Given the description of an element on the screen output the (x, y) to click on. 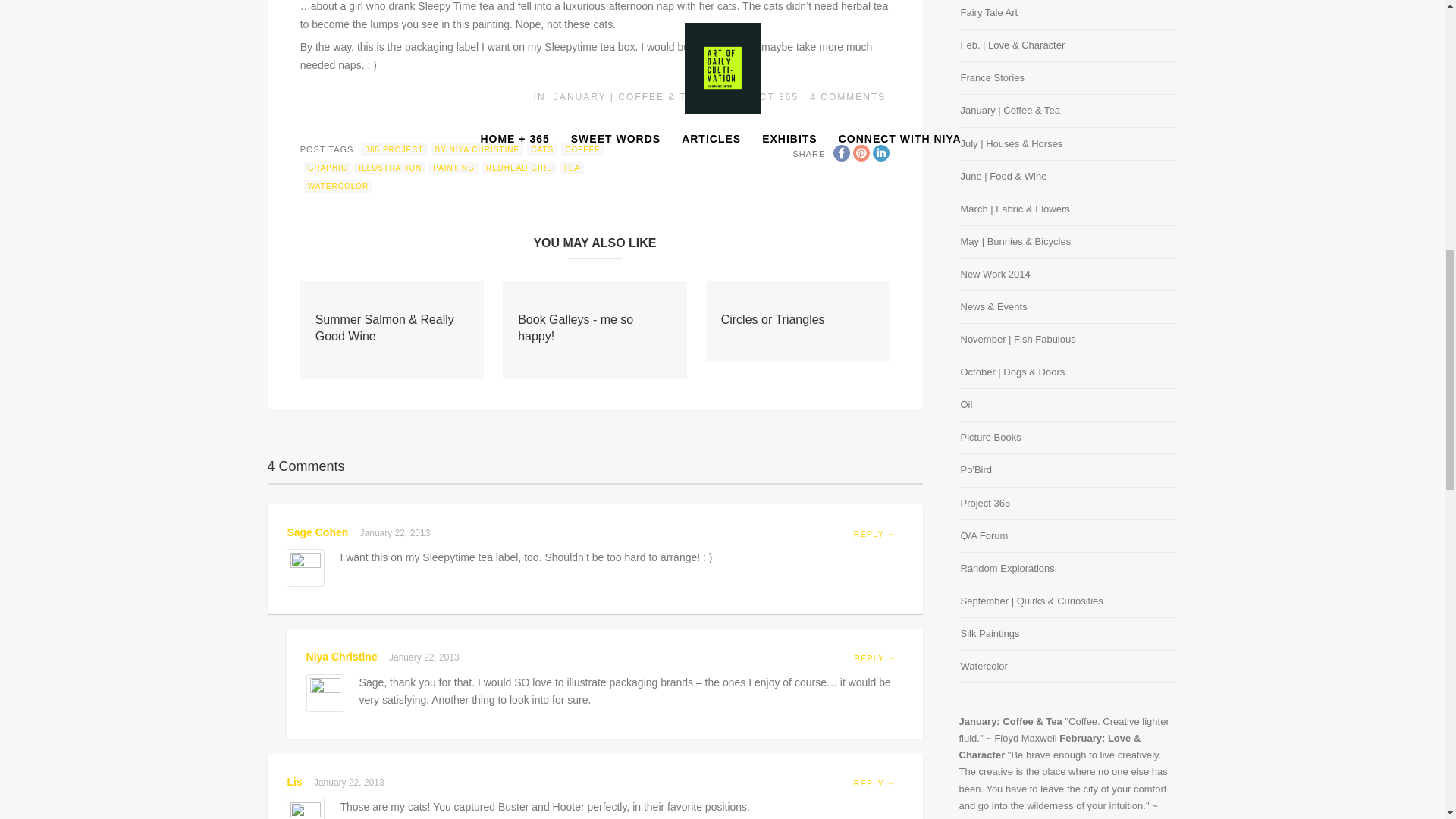
LinkedIn (880, 152)
Facebook (841, 152)
Pinterest (861, 152)
